Given the description of an element on the screen output the (x, y) to click on. 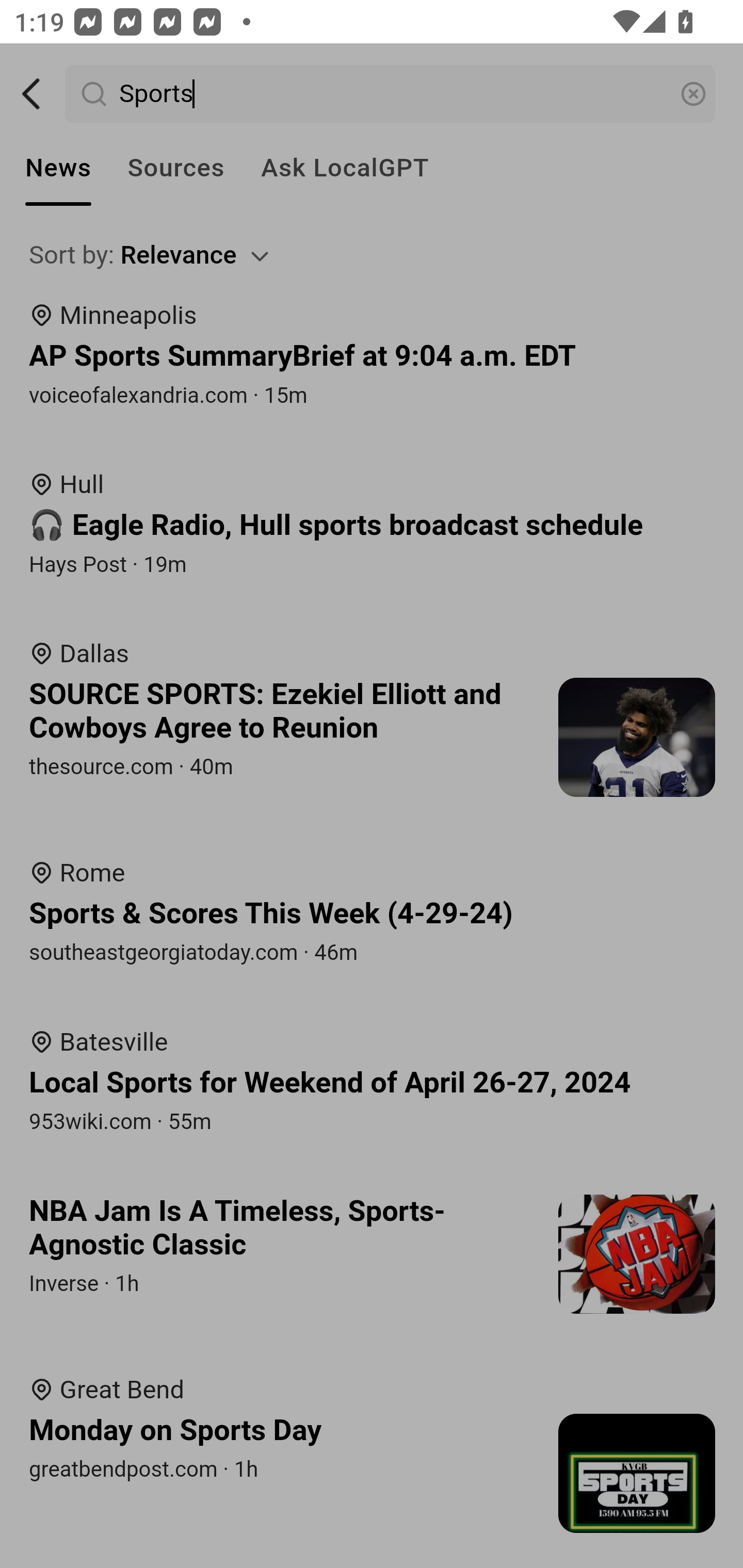
Sports (390, 93)
News (58, 168)
Sources (175, 168)
Ask LocalGPT (344, 168)
Sort by:  Relevance (372, 254)
